Given the description of an element on the screen output the (x, y) to click on. 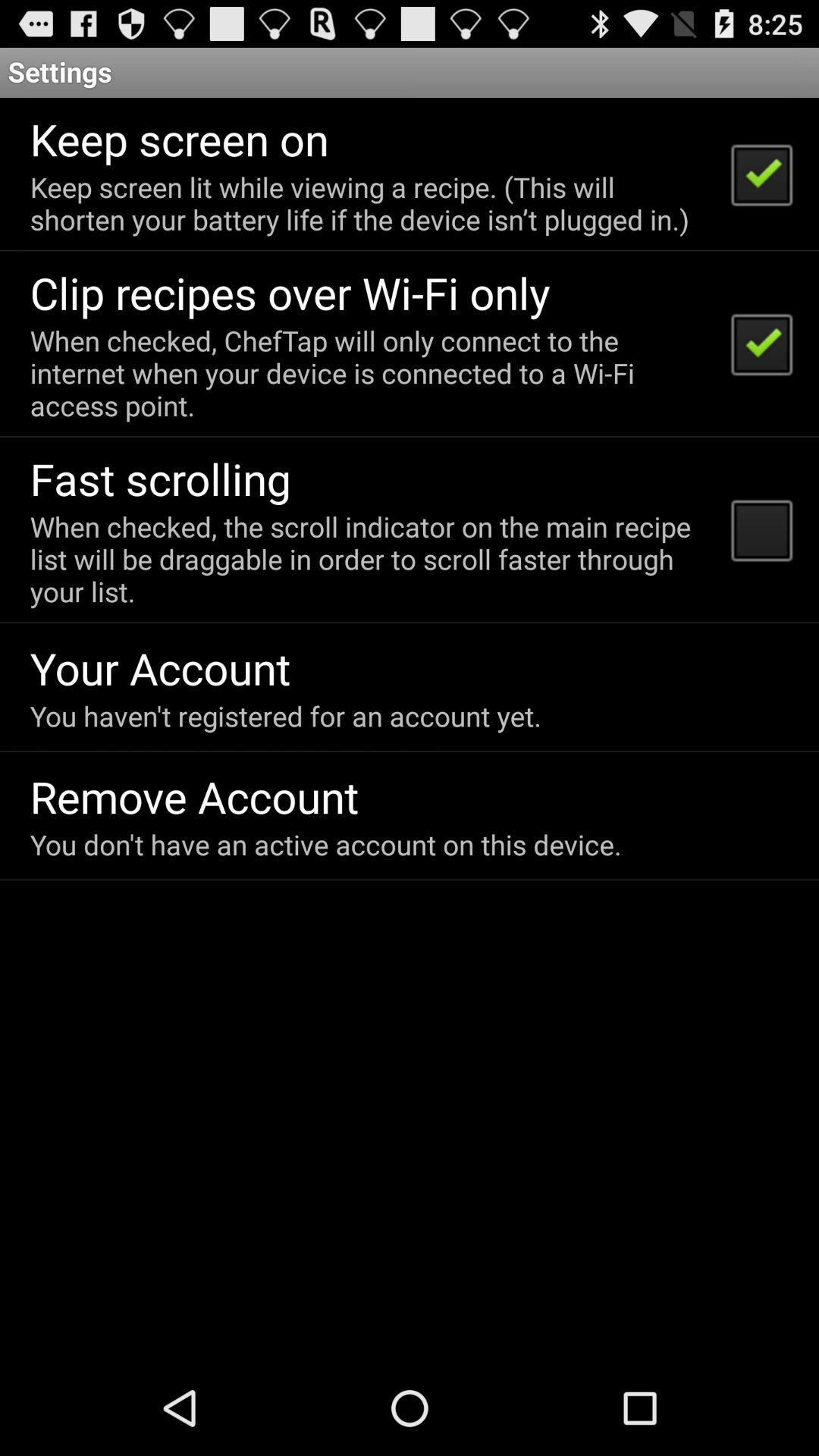
open item below when checked the (160, 667)
